Given the description of an element on the screen output the (x, y) to click on. 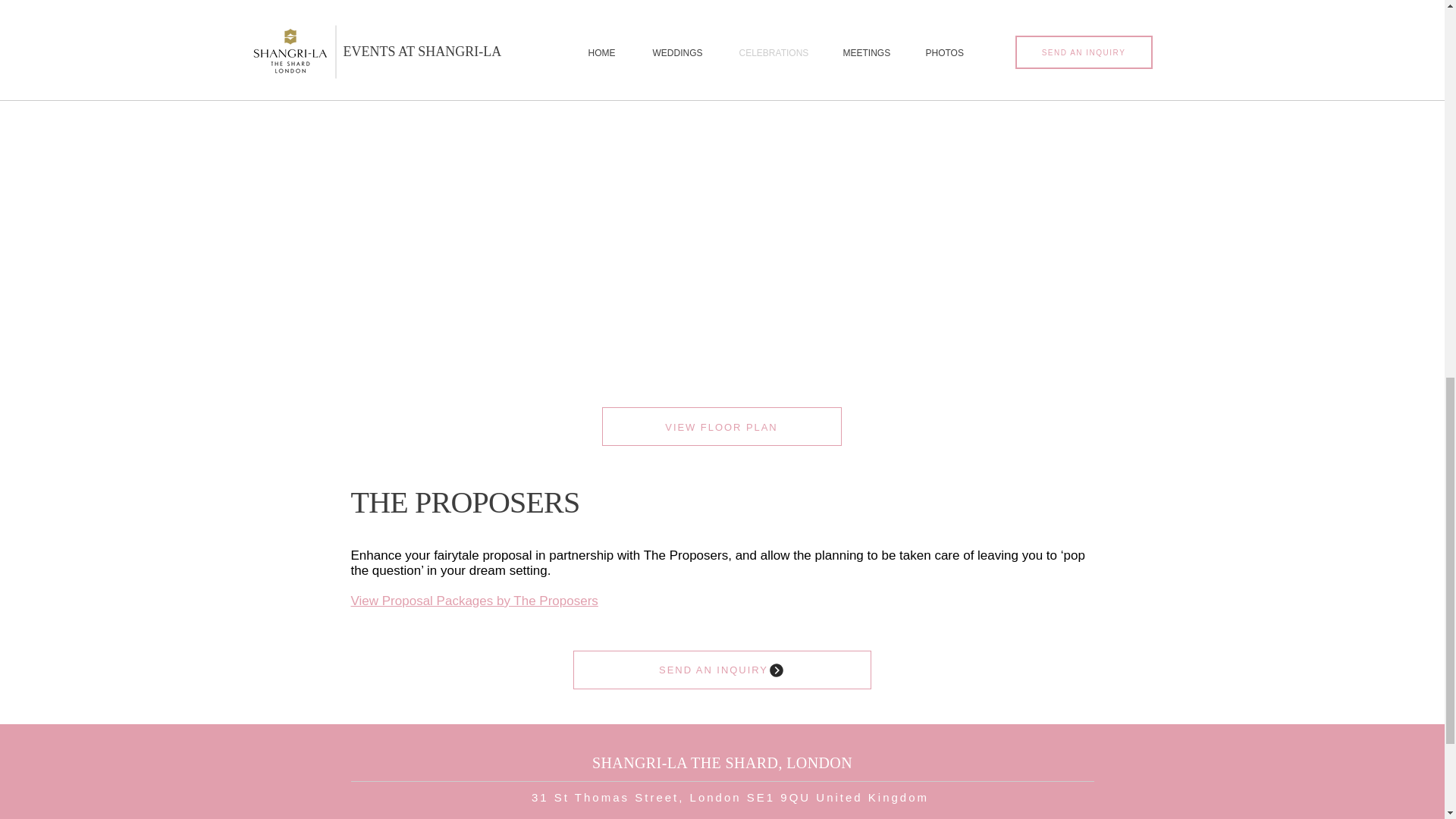
VIEW FLOOR PLAN (721, 426)
View Proposal Packages by The Proposers (473, 600)
SEND AN INQUIRY (721, 669)
